Given the description of an element on the screen output the (x, y) to click on. 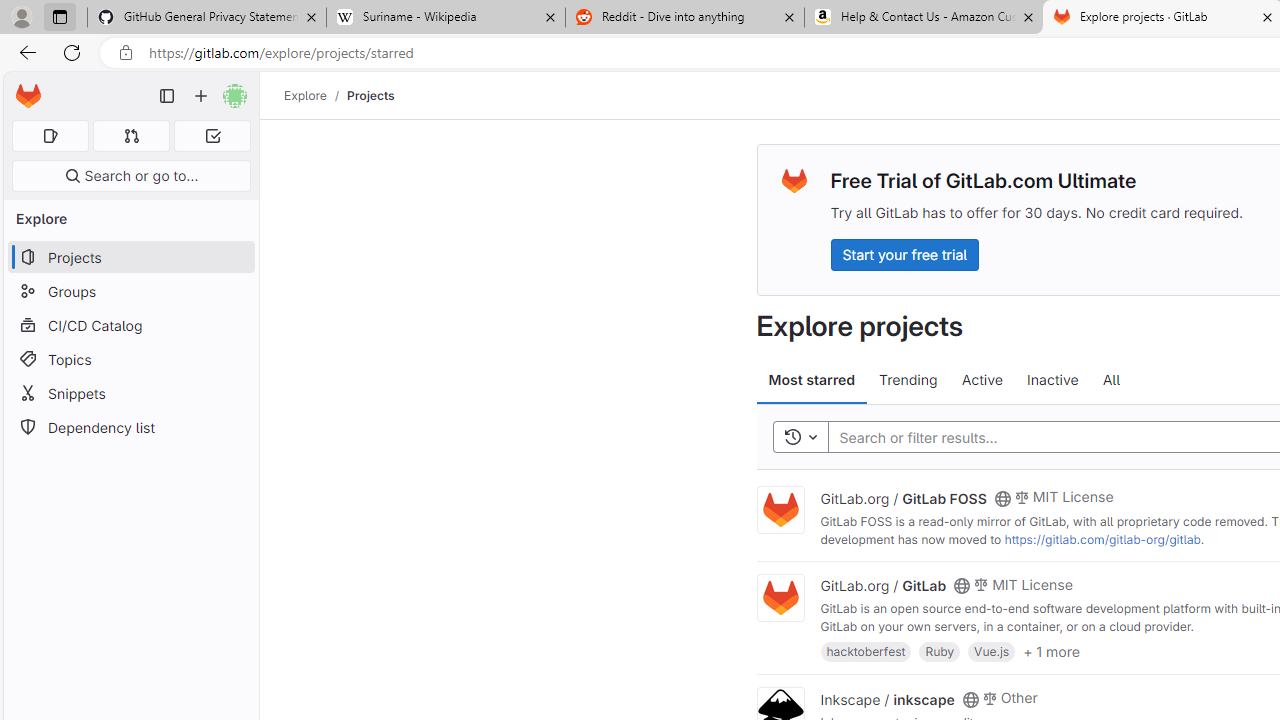
GitHub General Privacy Statement - GitHub Docs (207, 17)
Trending (907, 379)
Vue.js (991, 650)
Create new... (201, 96)
Primary navigation sidebar (167, 96)
All (1111, 379)
GitLab.org / GitLab (883, 585)
Explore (305, 95)
Active (982, 379)
hacktoberfest (866, 650)
CI/CD Catalog (130, 325)
